Given the description of an element on the screen output the (x, y) to click on. 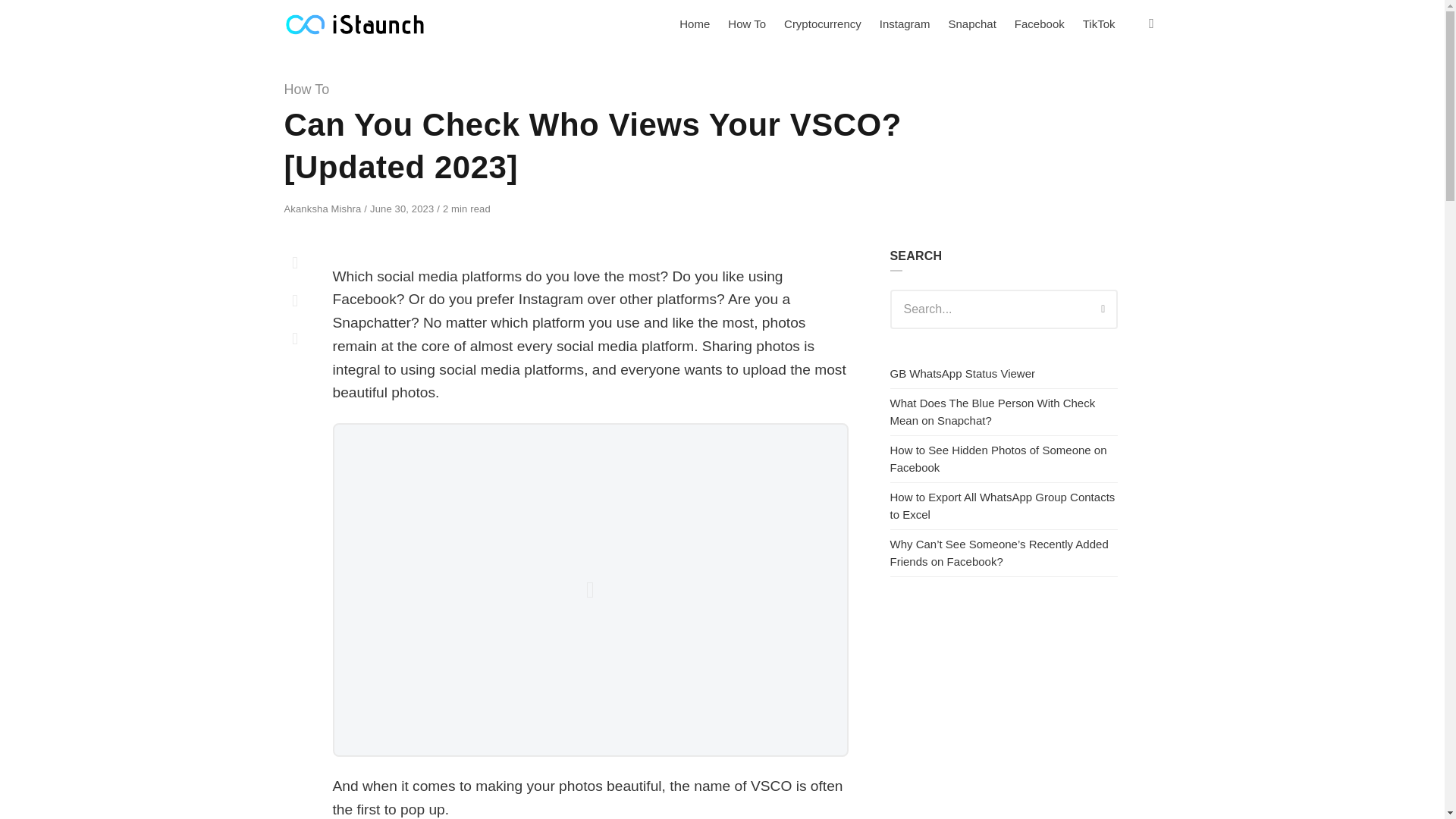
June 30, 2023 (402, 208)
Cryptocurrency (822, 24)
How to Export All WhatsApp Group Contacts to Excel (1002, 505)
Facebook (1040, 24)
How To (306, 89)
TikTok (1099, 24)
How To (746, 24)
Snapchat (971, 24)
GB WhatsApp Status Viewer (962, 373)
Akanksha Mishra (323, 208)
